Given the description of an element on the screen output the (x, y) to click on. 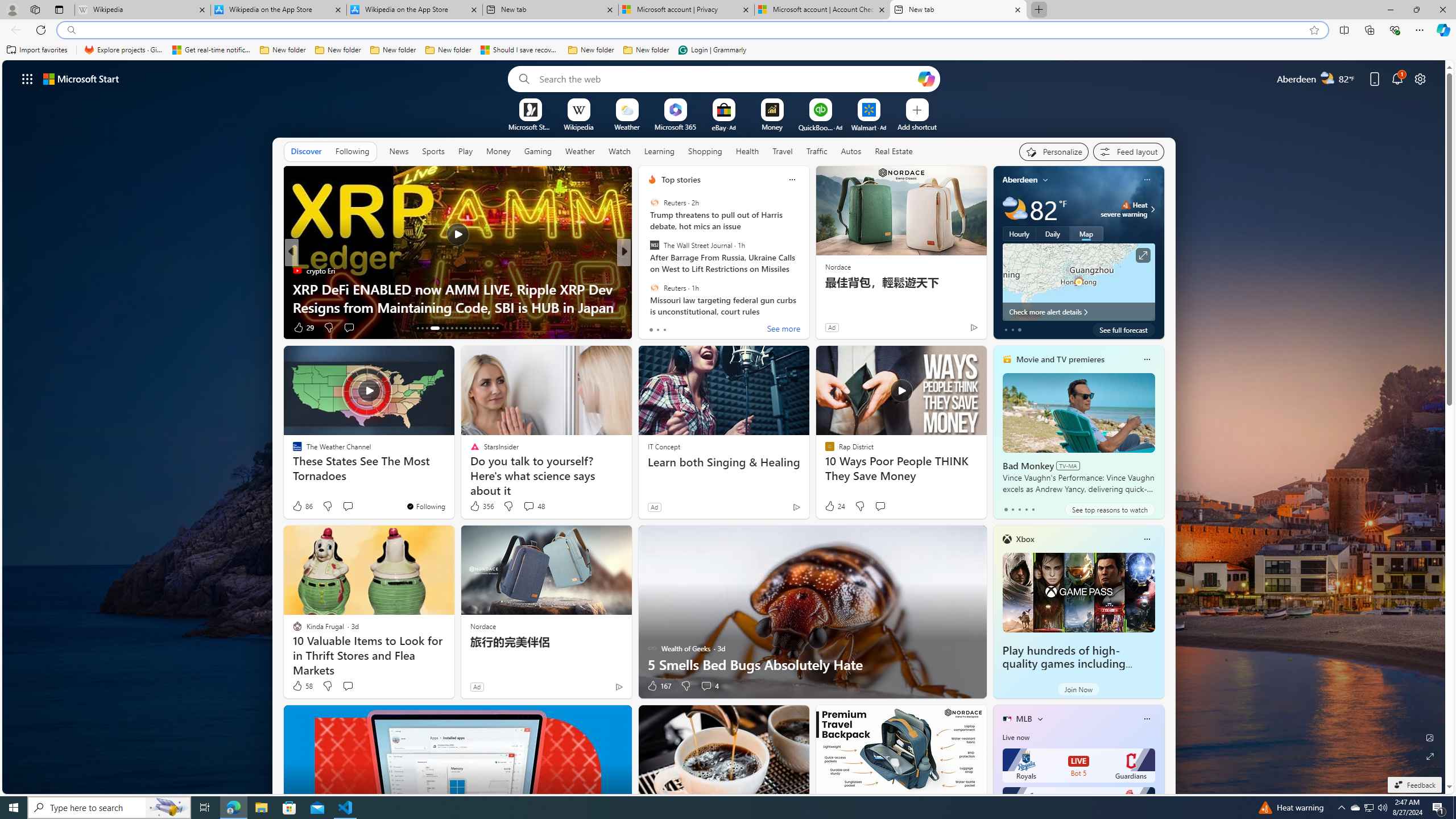
AutomationID: tab-17 (439, 328)
AutomationID: tab-29 (497, 328)
Add a site (916, 126)
Following (352, 151)
Map (1085, 233)
Weather (580, 151)
Ad Choice (619, 686)
90 Like (652, 327)
ATP Fitness Pte Ltd (671, 288)
Edit Background (1430, 737)
View comments 4 Comment (709, 685)
Gaming (537, 151)
AutomationID: tab-14 (422, 328)
HowToGeek (647, 270)
